Given the description of an element on the screen output the (x, y) to click on. 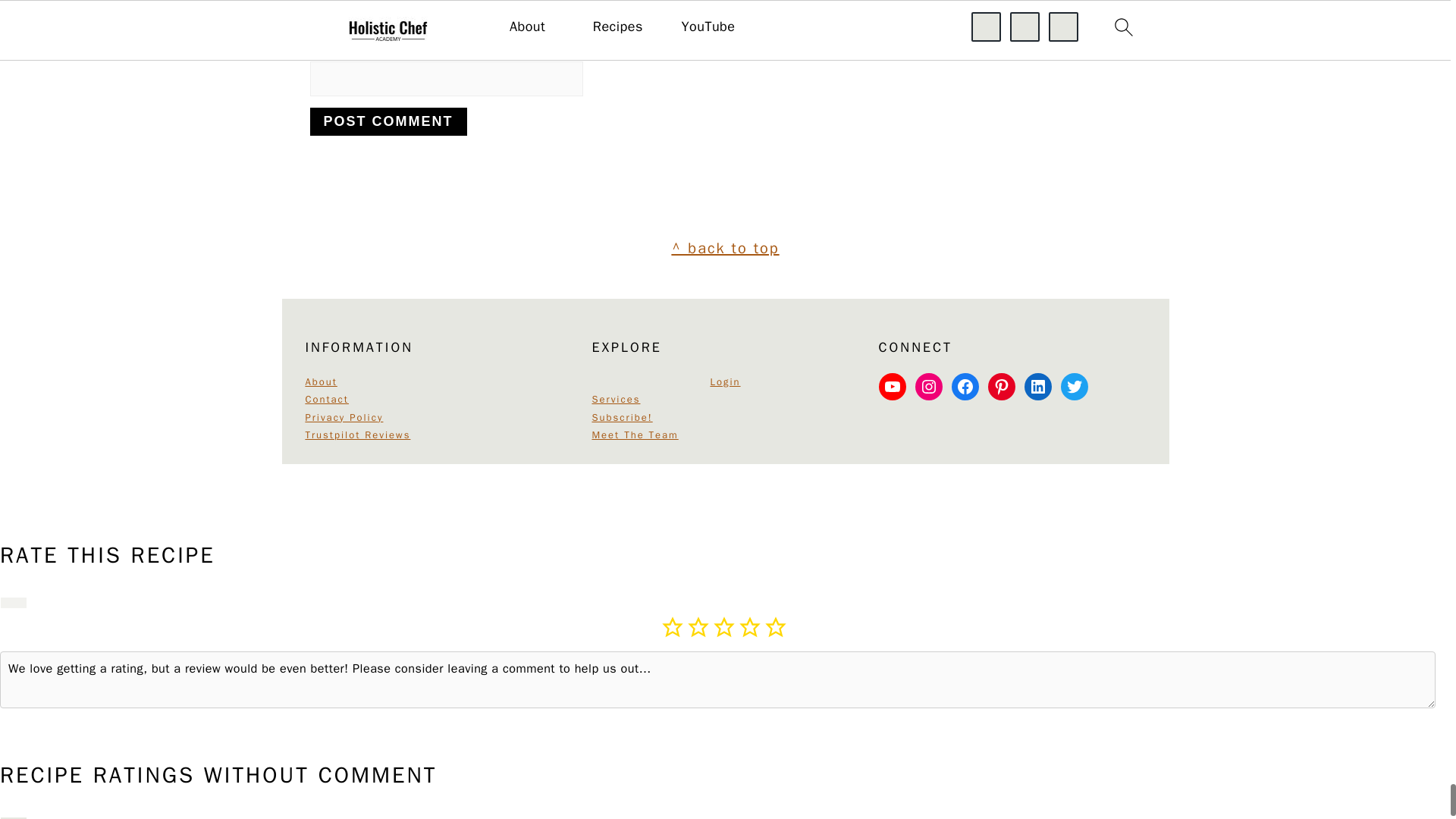
Post Comment (386, 121)
